Given the description of an element on the screen output the (x, y) to click on. 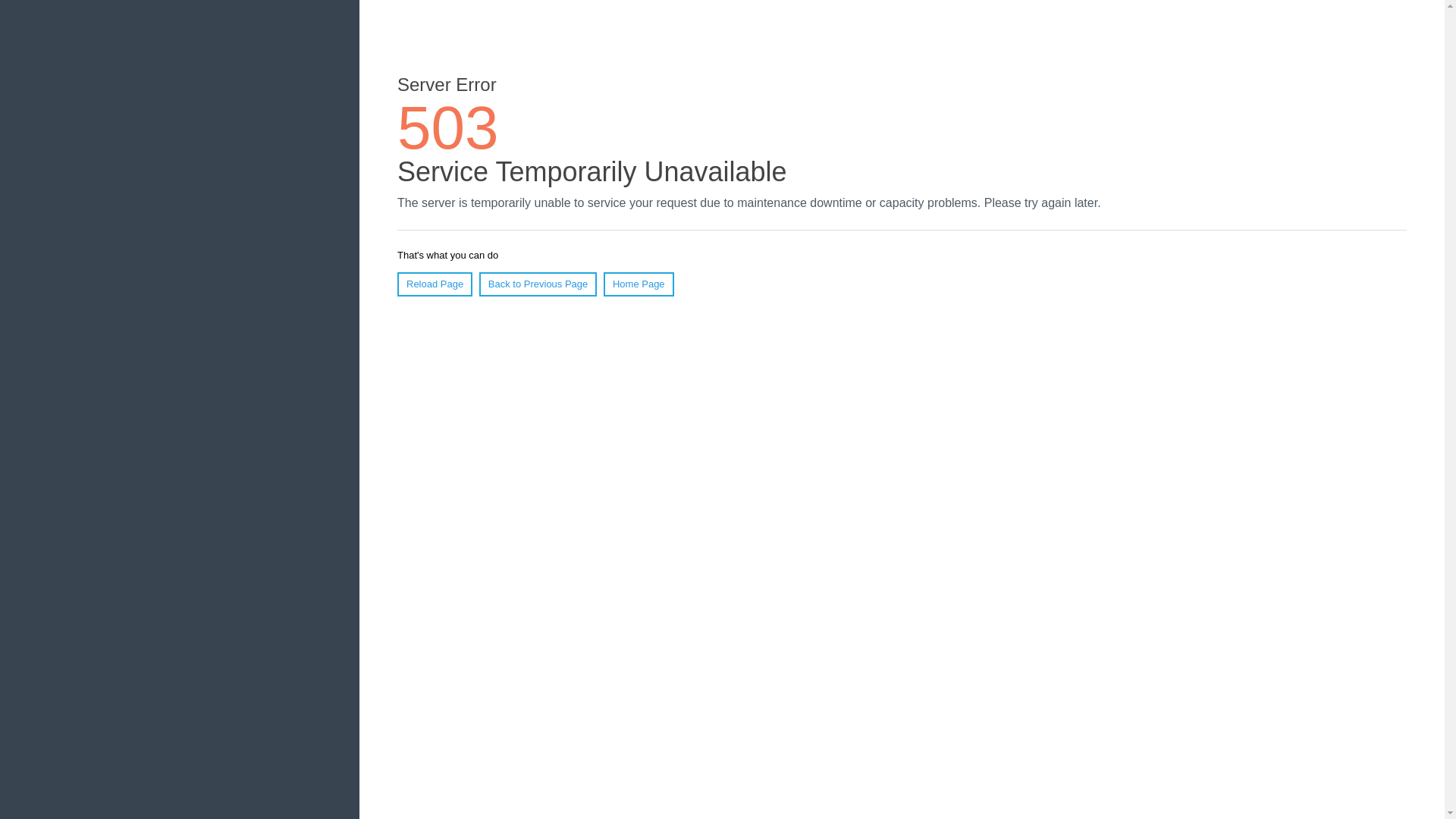
Back to Previous Page Element type: text (538, 284)
Home Page Element type: text (638, 284)
Reload Page Element type: text (434, 284)
